Given the description of an element on the screen output the (x, y) to click on. 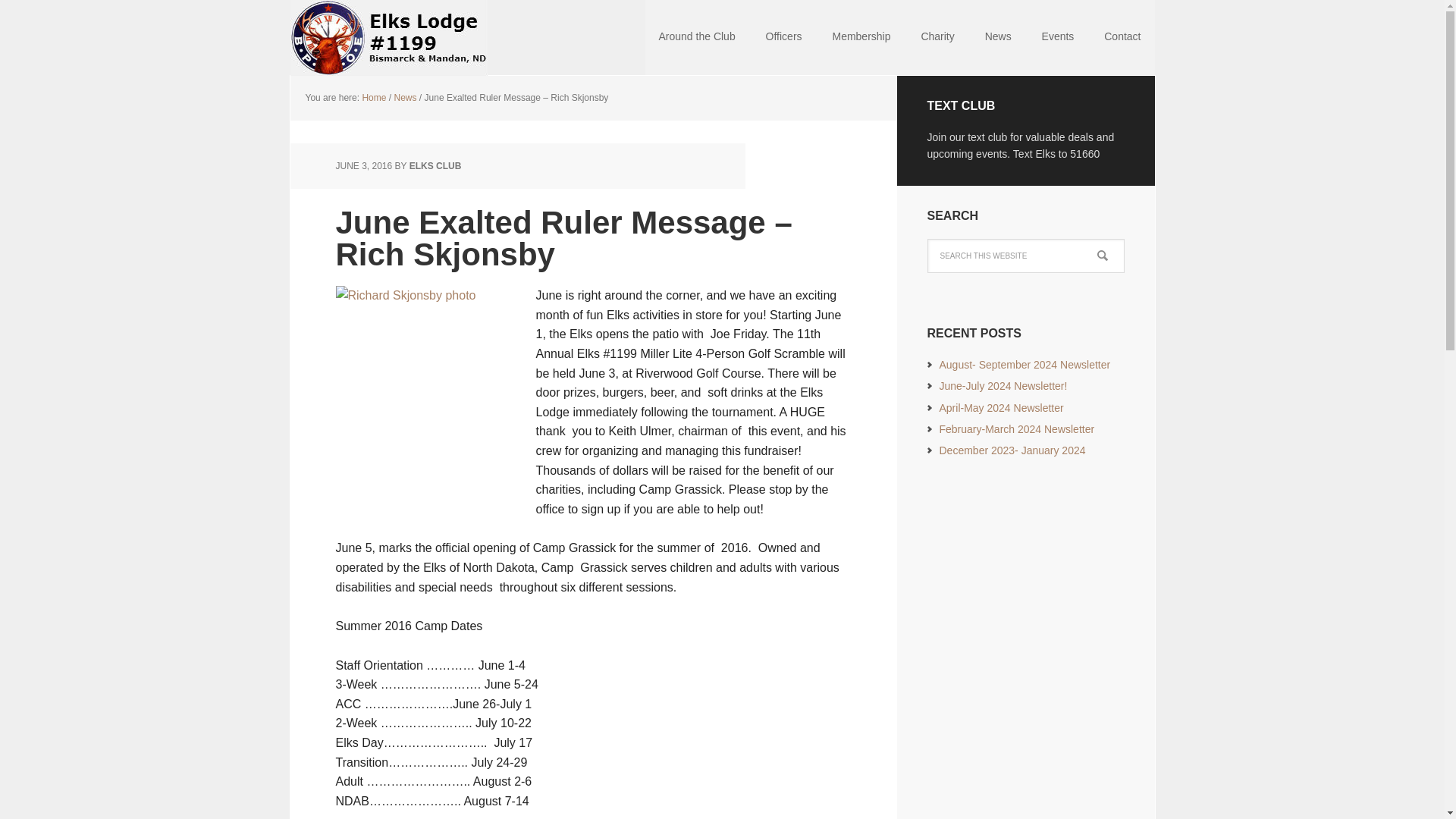
Around the Club (697, 37)
August- September 2024 Newsletter (1024, 364)
Elks Club 1199 (387, 38)
Membership (861, 37)
News (405, 97)
April-May 2024 Newsletter (1000, 408)
December 2023- January 2024 (1011, 450)
June-July 2024 Newsletter! (1003, 386)
